Given the description of an element on the screen output the (x, y) to click on. 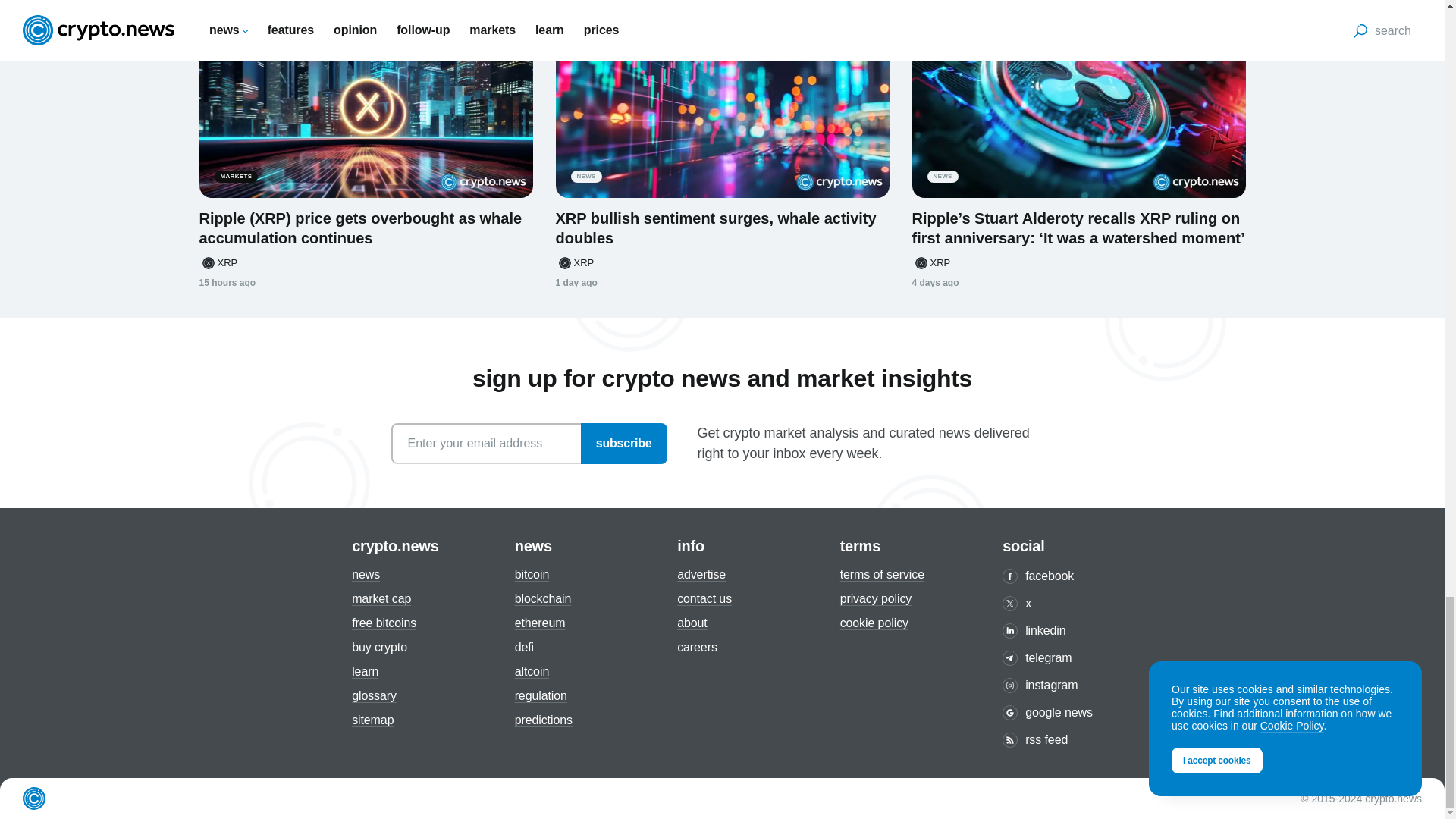
July 13, 2024 at 4:39 pm (934, 282)
July 16, 2024 at 3:55 pm (227, 282)
July 16, 2024 at 6:26 am (575, 282)
